Given the description of an element on the screen output the (x, y) to click on. 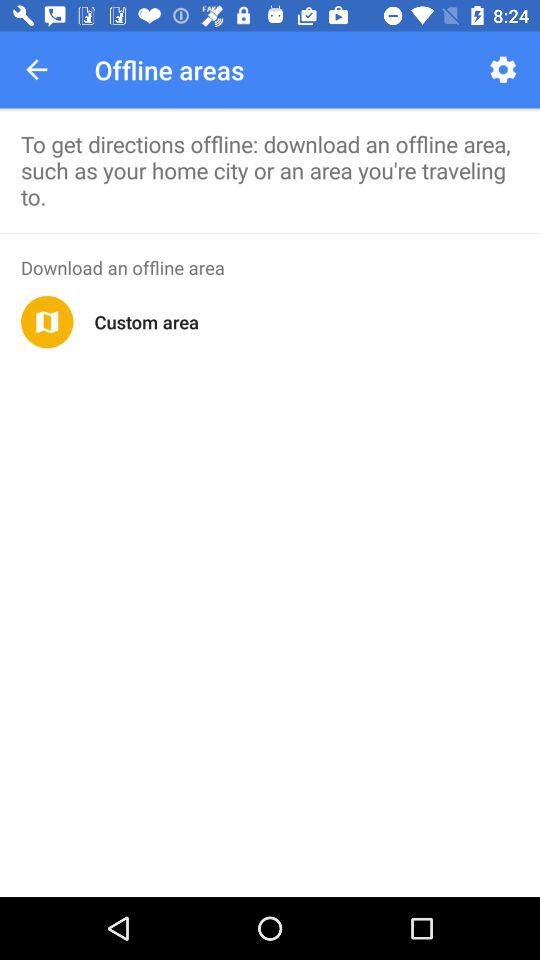
choose the icon to the right of offline areas app (502, 69)
